Given the description of an element on the screen output the (x, y) to click on. 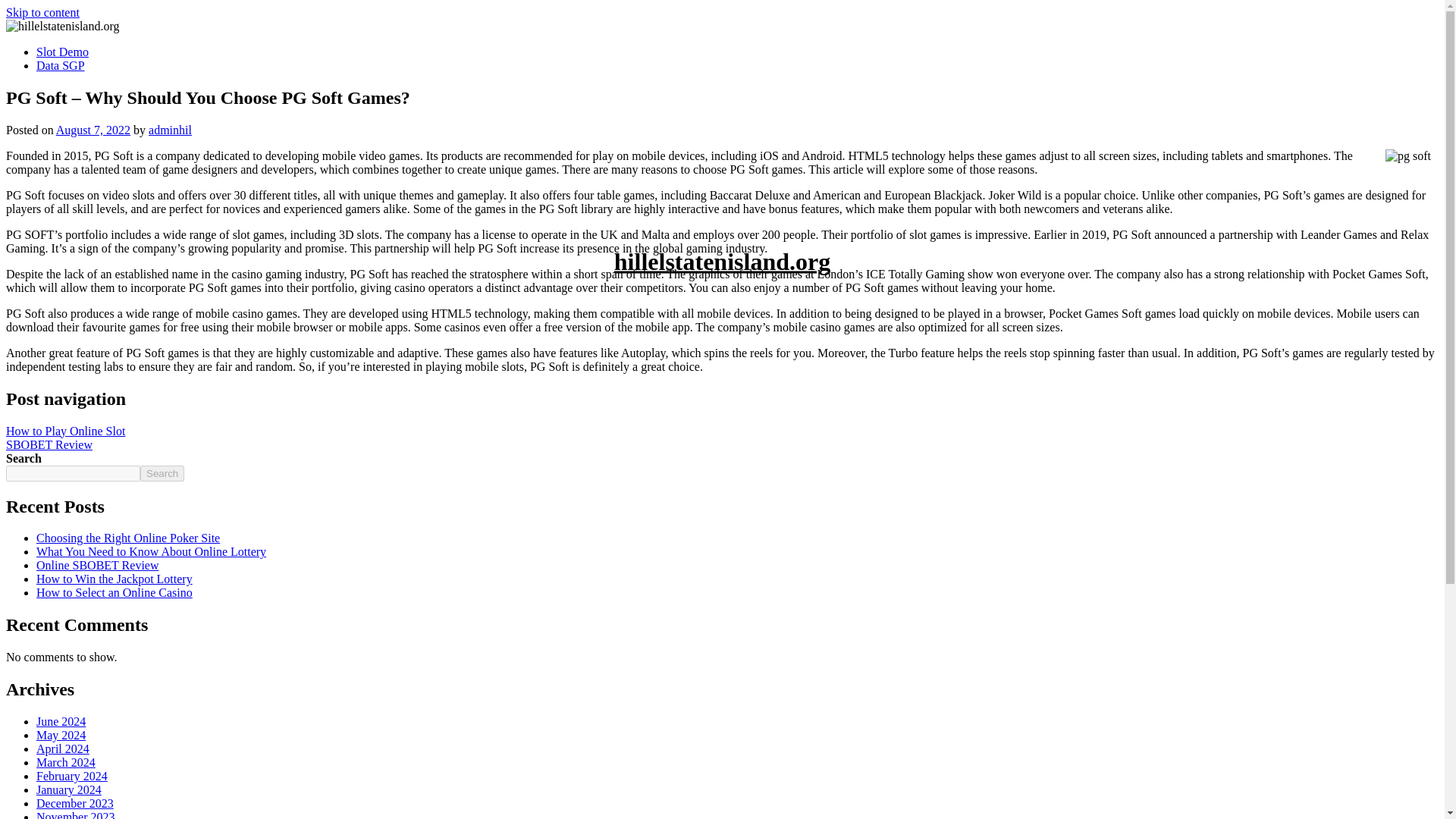
How to Play Online Slot (65, 431)
How to Win the Jackpot Lottery (114, 578)
Search (161, 473)
adminhil (170, 129)
Choosing the Right Online Poker Site (127, 537)
April 2024 (62, 748)
February 2024 (71, 775)
What You Need to Know About Online Lottery (151, 551)
Skip to content (42, 11)
Data SGP (60, 65)
